Given the description of an element on the screen output the (x, y) to click on. 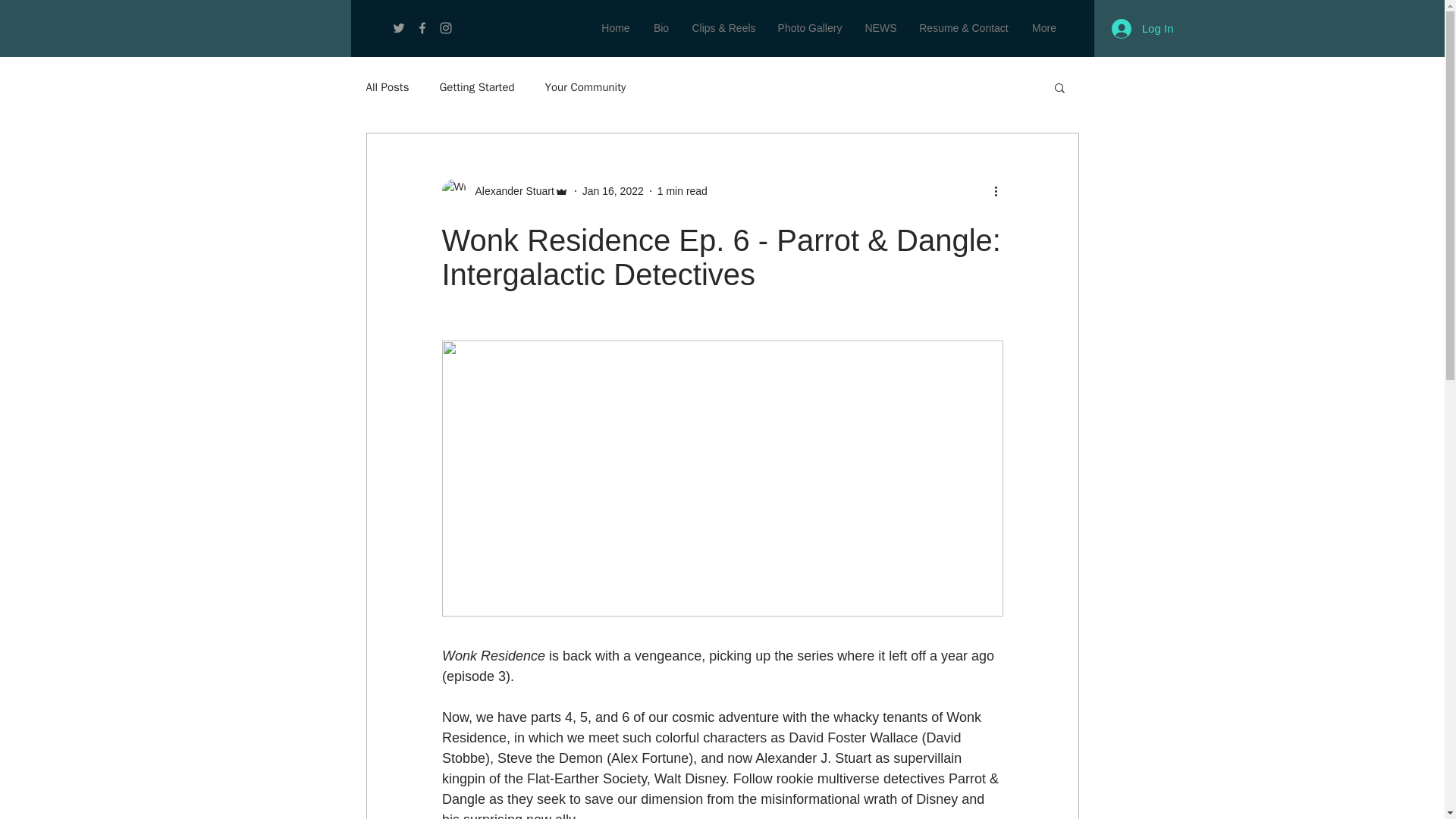
1 min read (682, 191)
Alexander Stuart (504, 191)
Alexander Stuart (509, 191)
Photo Gallery (809, 27)
Log In (1142, 27)
Your Community (585, 87)
Home (615, 27)
Jan 16, 2022 (612, 191)
All Posts (387, 87)
NEWS (880, 27)
